Given the description of an element on the screen output the (x, y) to click on. 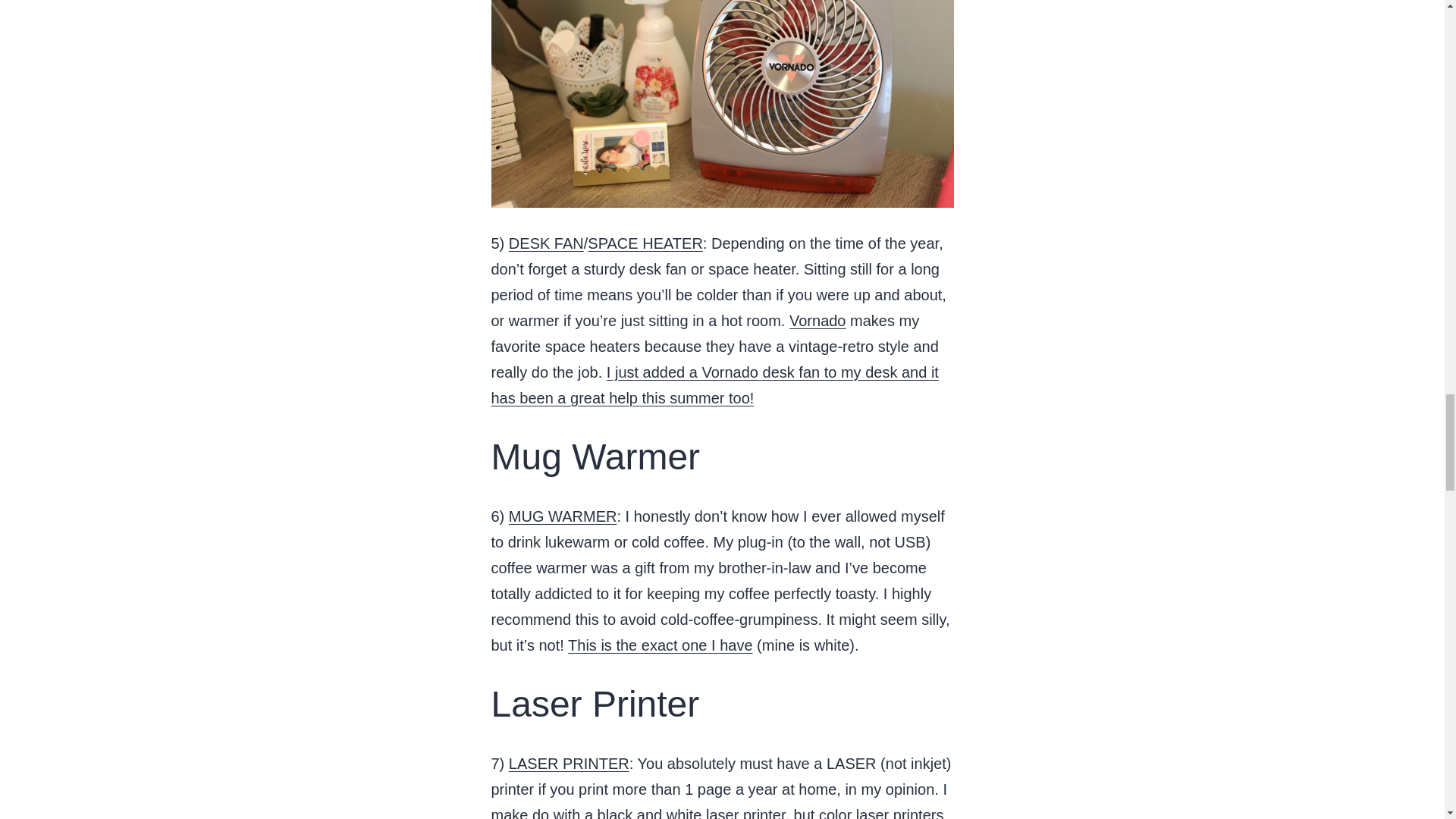
MUG WARMER (562, 515)
Vornado (817, 320)
DESK FAN (545, 243)
SPACE HEATER (645, 243)
LASER PRINTER (568, 763)
This is the exact one I have (659, 645)
